Given the description of an element on the screen output the (x, y) to click on. 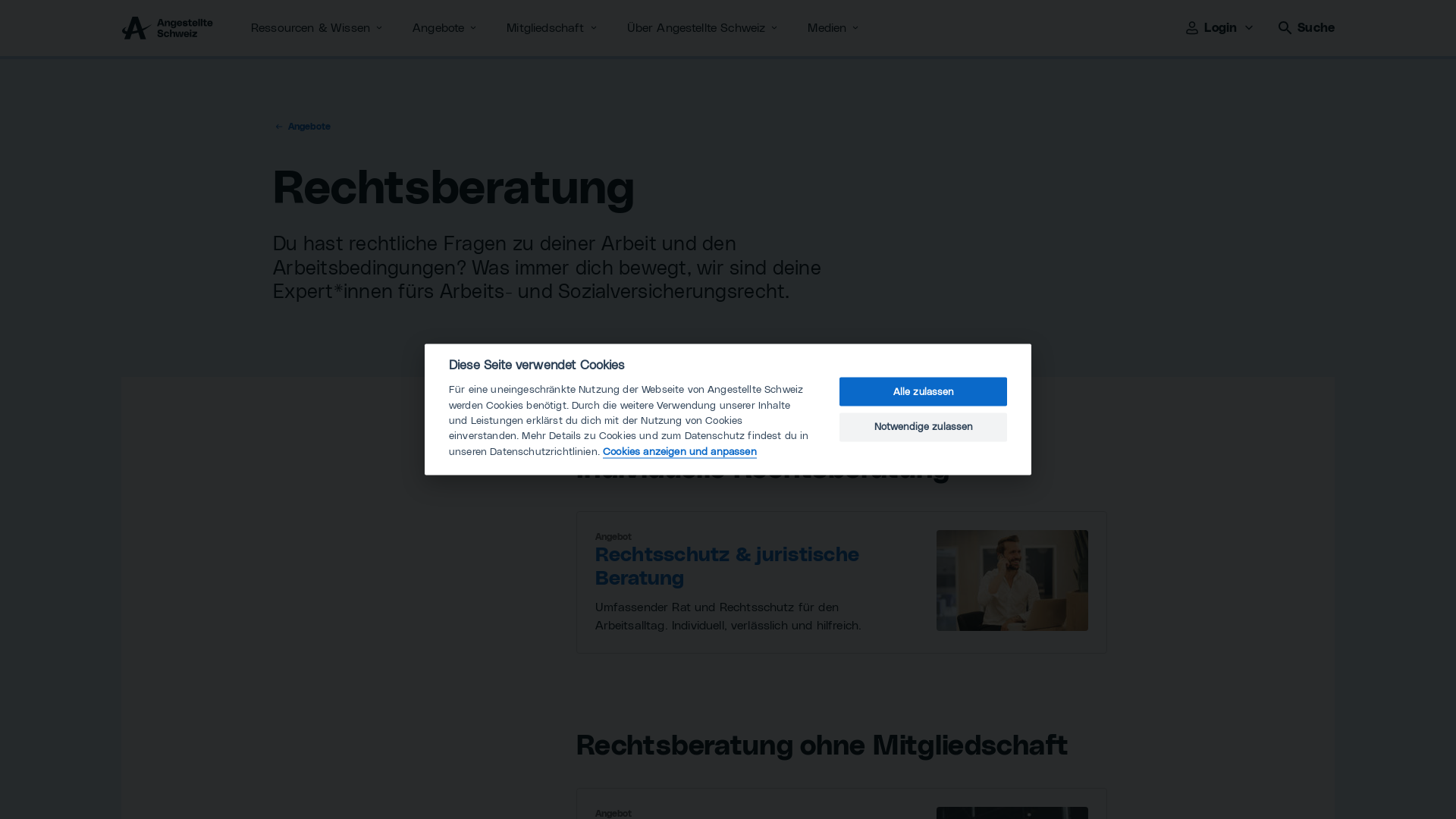
Angebote Element type: text (445, 28)
Notwendige zulassen Element type: text (923, 426)
Ressourcen & Wissen Element type: text (317, 28)
Angebote Element type: text (301, 126)
Suche Element type: text (1305, 27)
Login Element type: text (1220, 27)
Alle zulassen Element type: text (923, 391)
Mitgliedschaft Element type: text (552, 28)
Medien Element type: text (834, 28)
Cookies anzeigen und anpassen Element type: text (679, 451)
